Given the description of an element on the screen output the (x, y) to click on. 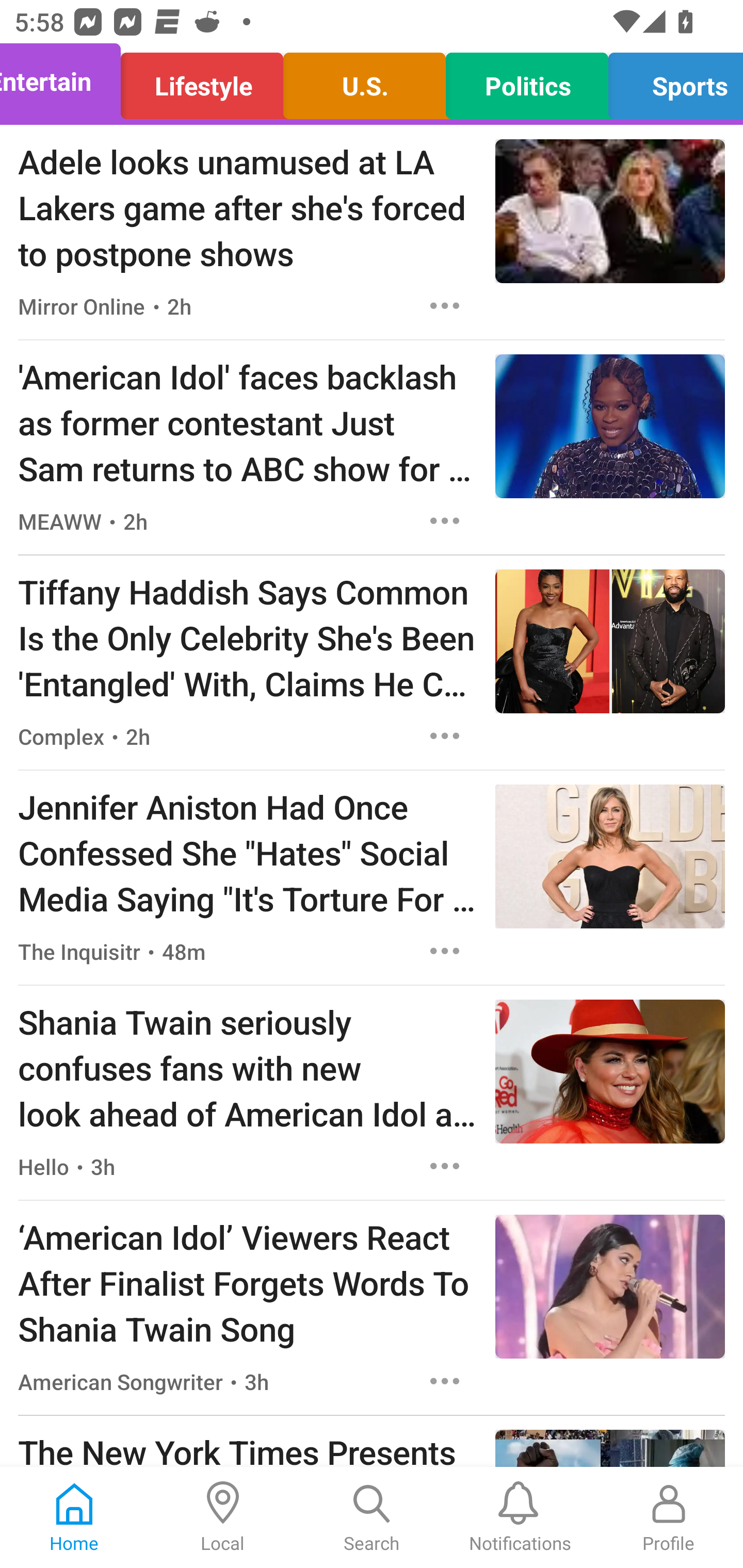
Entertain (65, 81)
Lifestyle (201, 81)
U.S. (364, 81)
Politics (526, 81)
Sports (670, 81)
Options (444, 305)
Options (444, 520)
Options (444, 736)
Options (444, 950)
Options (444, 1166)
Options (444, 1381)
Local (222, 1517)
Search (371, 1517)
Notifications (519, 1517)
Profile (668, 1517)
